Given the description of an element on the screen output the (x, y) to click on. 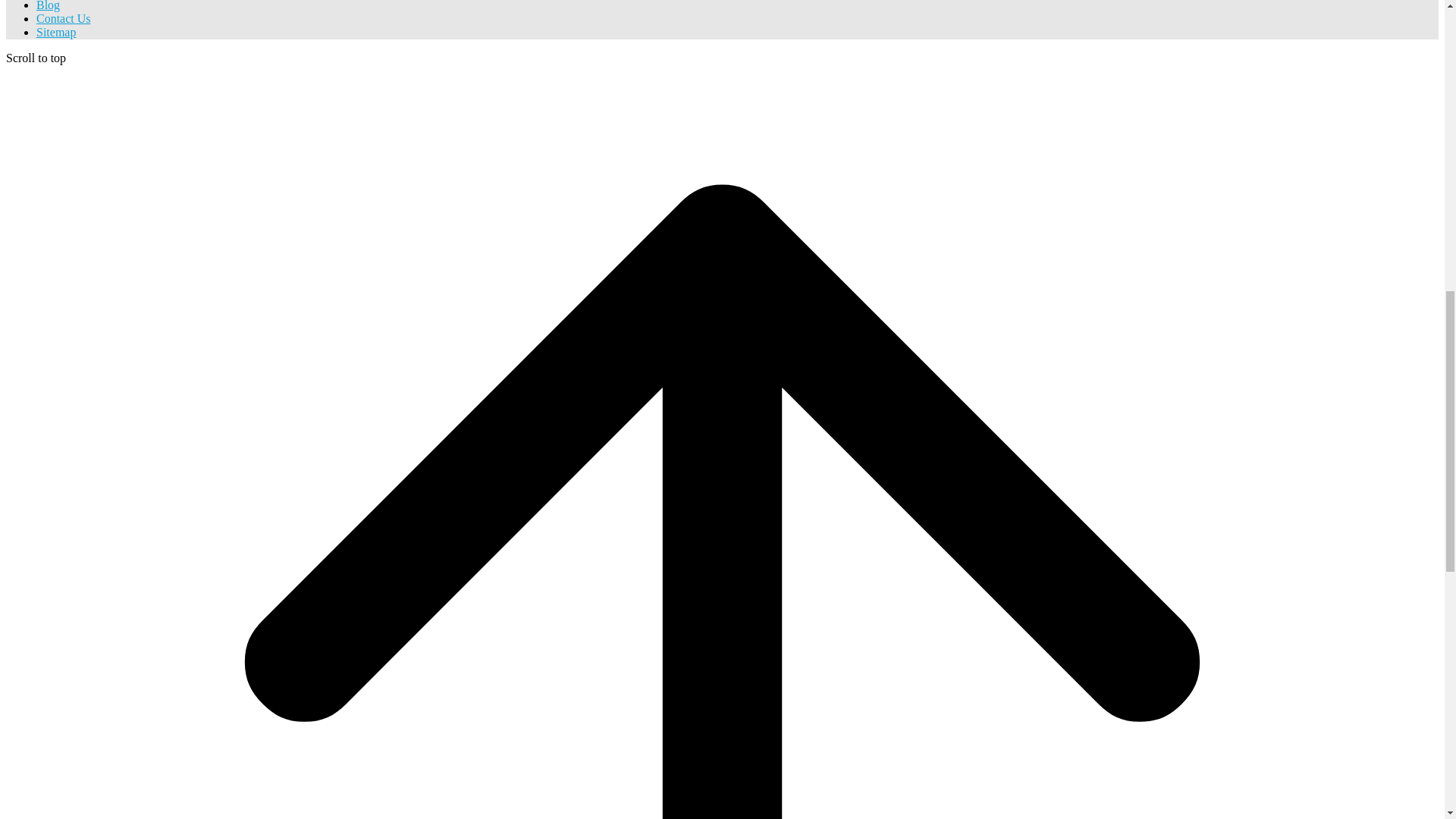
Contact Us (63, 18)
Sitemap (55, 31)
Blog (47, 5)
